Given the description of an element on the screen output the (x, y) to click on. 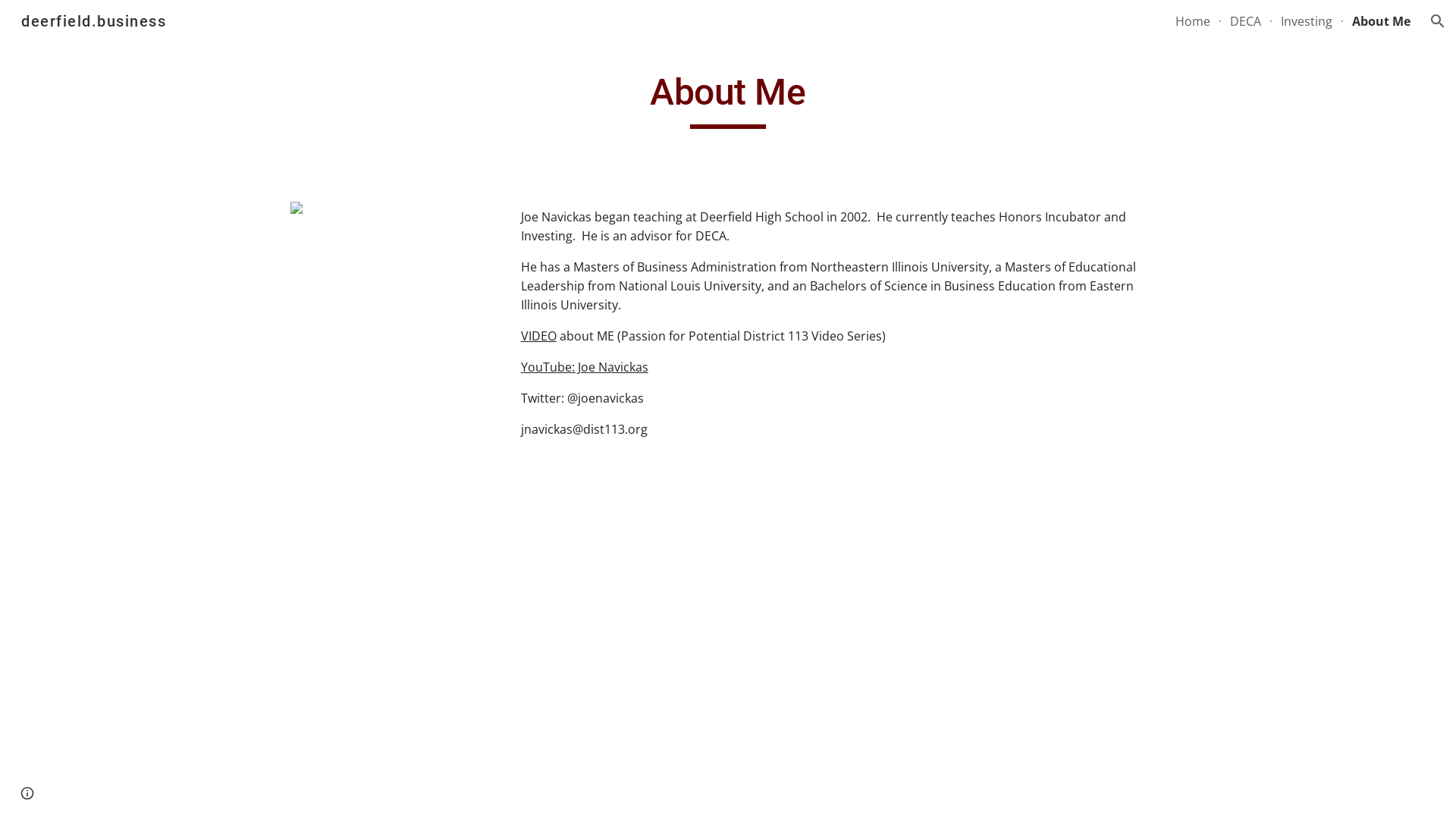
DECA Element type: text (1245, 20)
deerfield.business Element type: text (93, 19)
VIDEO Element type: text (538, 335)
About Me Element type: text (1381, 20)
YouTube: Joe Navickas Element type: text (584, 366)
Investing Element type: text (1306, 20)
Home Element type: text (1192, 20)
